Given the description of an element on the screen output the (x, y) to click on. 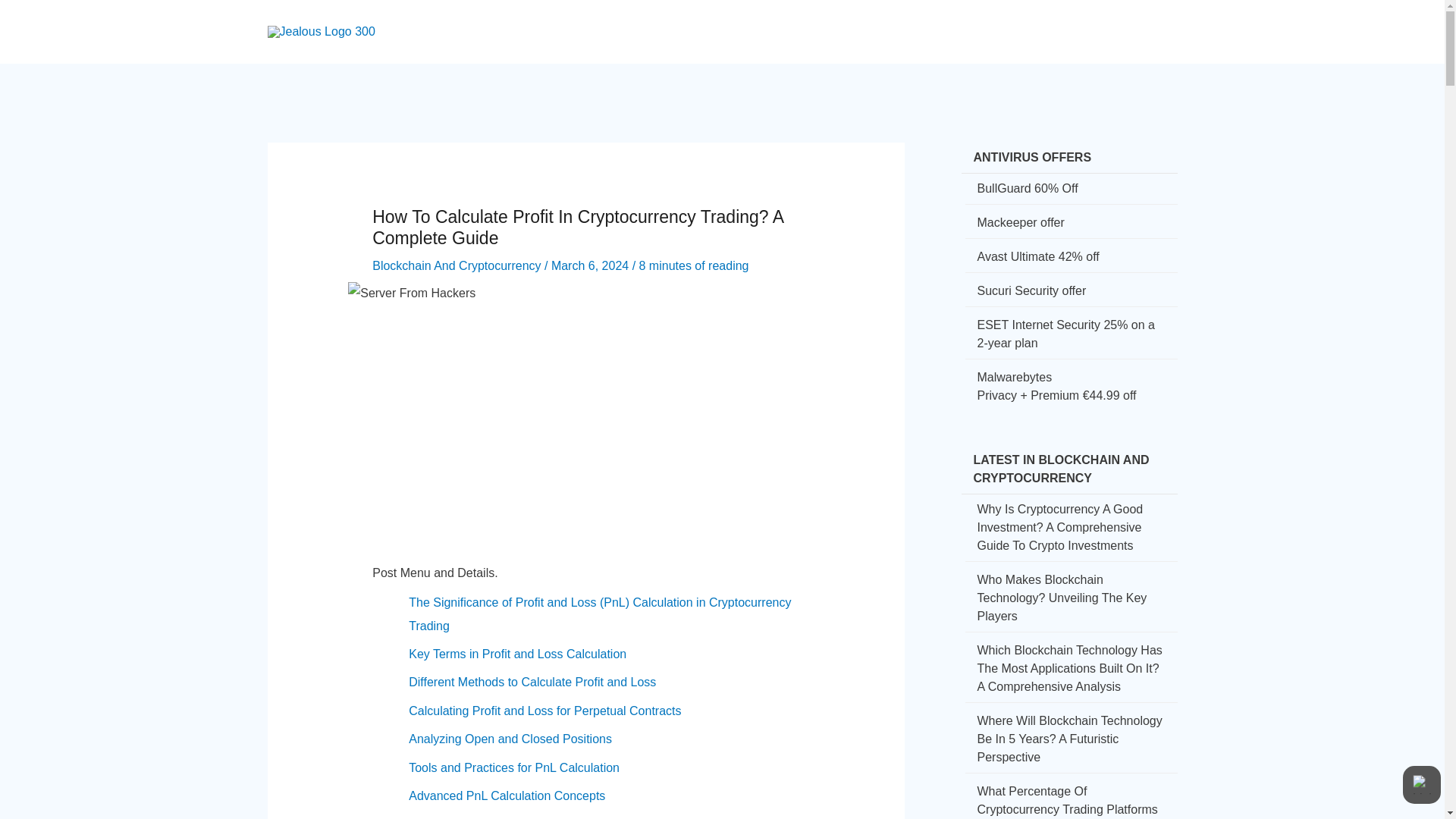
Cyber Security (713, 18)
Misc (1122, 18)
Different Methods to Calculate Profit and Loss (532, 681)
Analyzing Open and Closed Positions (510, 738)
Tools and Practices for PnL Calculation (514, 767)
Social (863, 18)
Gaming (999, 18)
Blockchain And Cryptocurrency (456, 265)
10 Best (1064, 18)
